Given the description of an element on the screen output the (x, y) to click on. 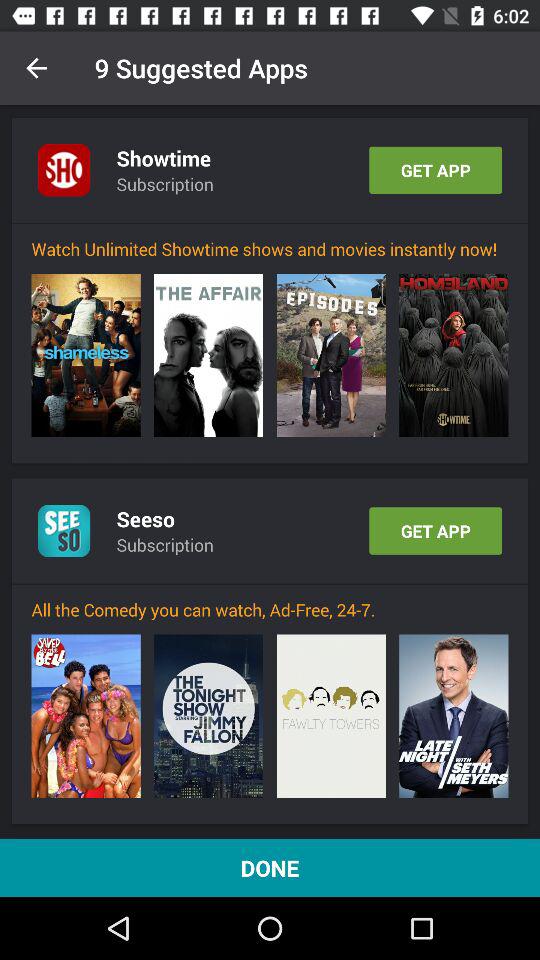
tap the item above the watch unlimited showtime icon (269, 223)
